Given the description of an element on the screen output the (x, y) to click on. 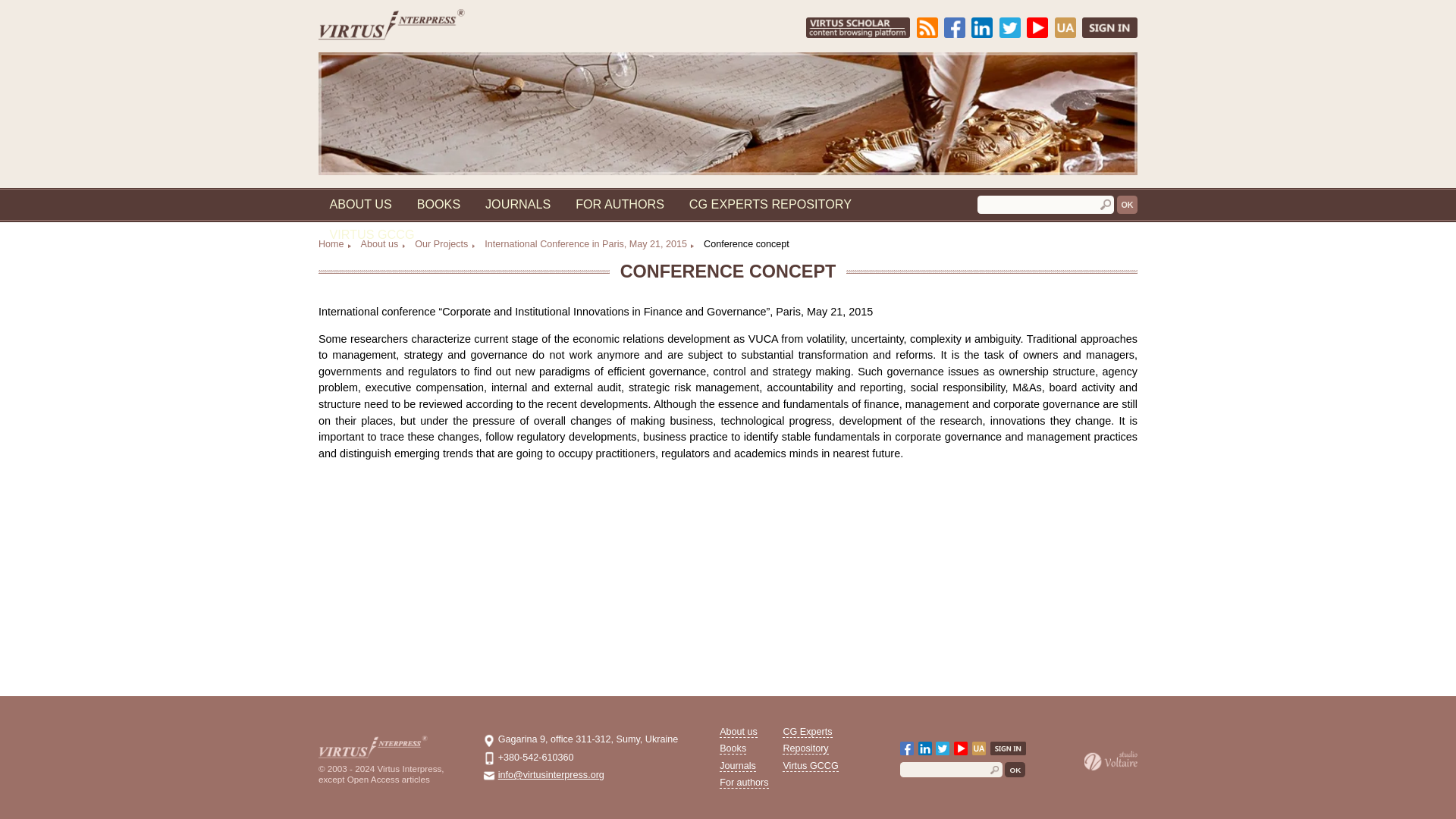
International Conference in Paris, May 21, 2015 (654, 270)
About us (400, 227)
ok (1252, 227)
BOOKS (487, 227)
Home (371, 270)
Virtus InterPress (434, 40)
CG EXPERTS REPOSITORY (856, 227)
FOR AUTHORS (689, 227)
ABOUT US (400, 227)
Journals (575, 227)
ok (1252, 227)
RSS - Virtus InterPress (1028, 38)
Our Projects (494, 270)
JOURNALS (575, 227)
About us (424, 270)
